Given the description of an element on the screen output the (x, y) to click on. 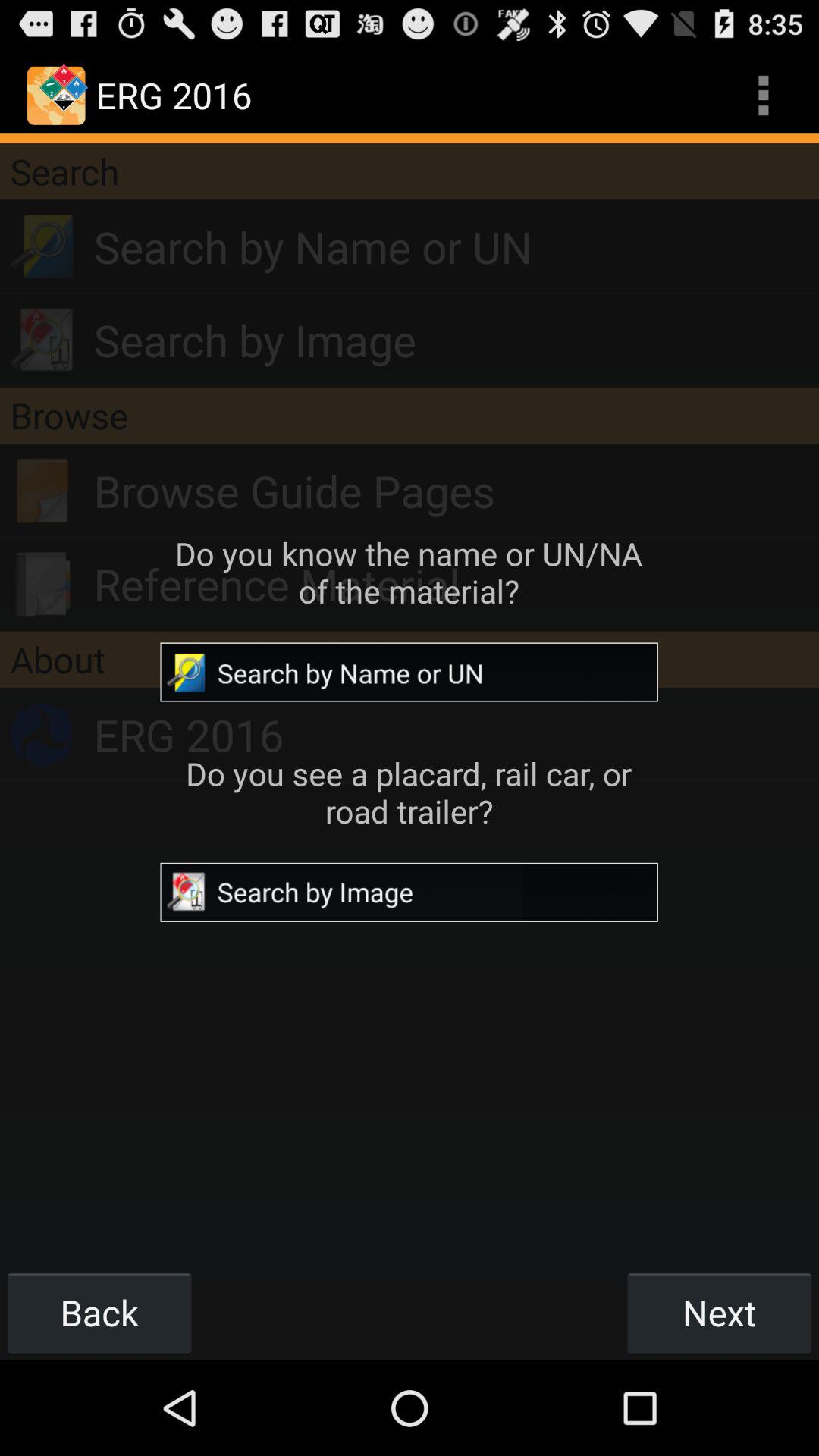
turn on the reference material (456, 584)
